Given the description of an element on the screen output the (x, y) to click on. 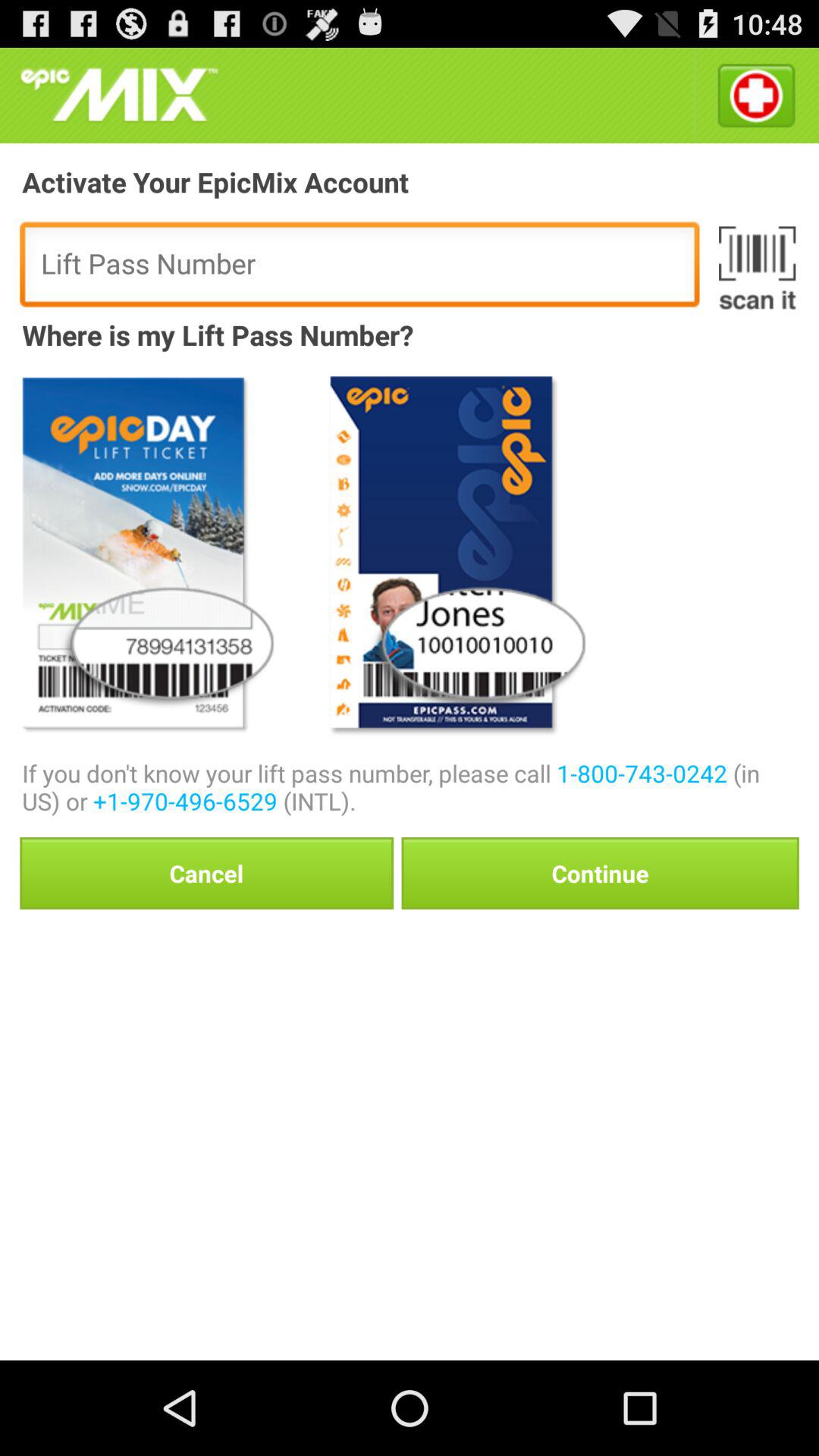
launch the icon next to the cancel item (600, 873)
